Given the description of an element on the screen output the (x, y) to click on. 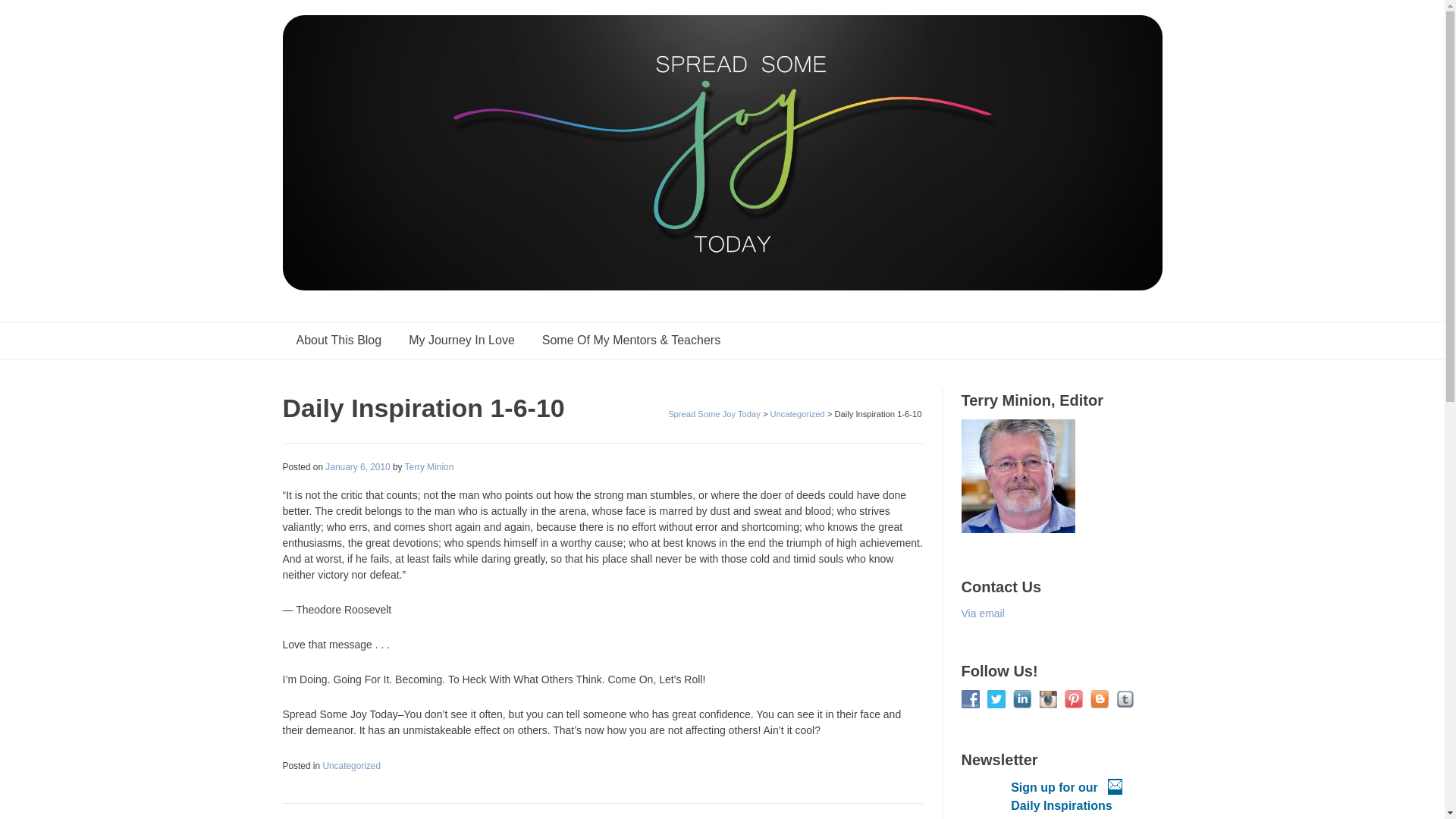
January 6, 2010 (357, 466)
Follow Us on Pinterest (1073, 699)
Follow Us on Twitter (996, 699)
Go to Spread Some Joy Today. (714, 413)
About This Blog (338, 339)
Go to the Uncategorized Category archives. (797, 413)
Search (27, 13)
Via email (982, 612)
Follow Us on Tumblr (1125, 699)
My Journey In Love (461, 339)
